Given the description of an element on the screen output the (x, y) to click on. 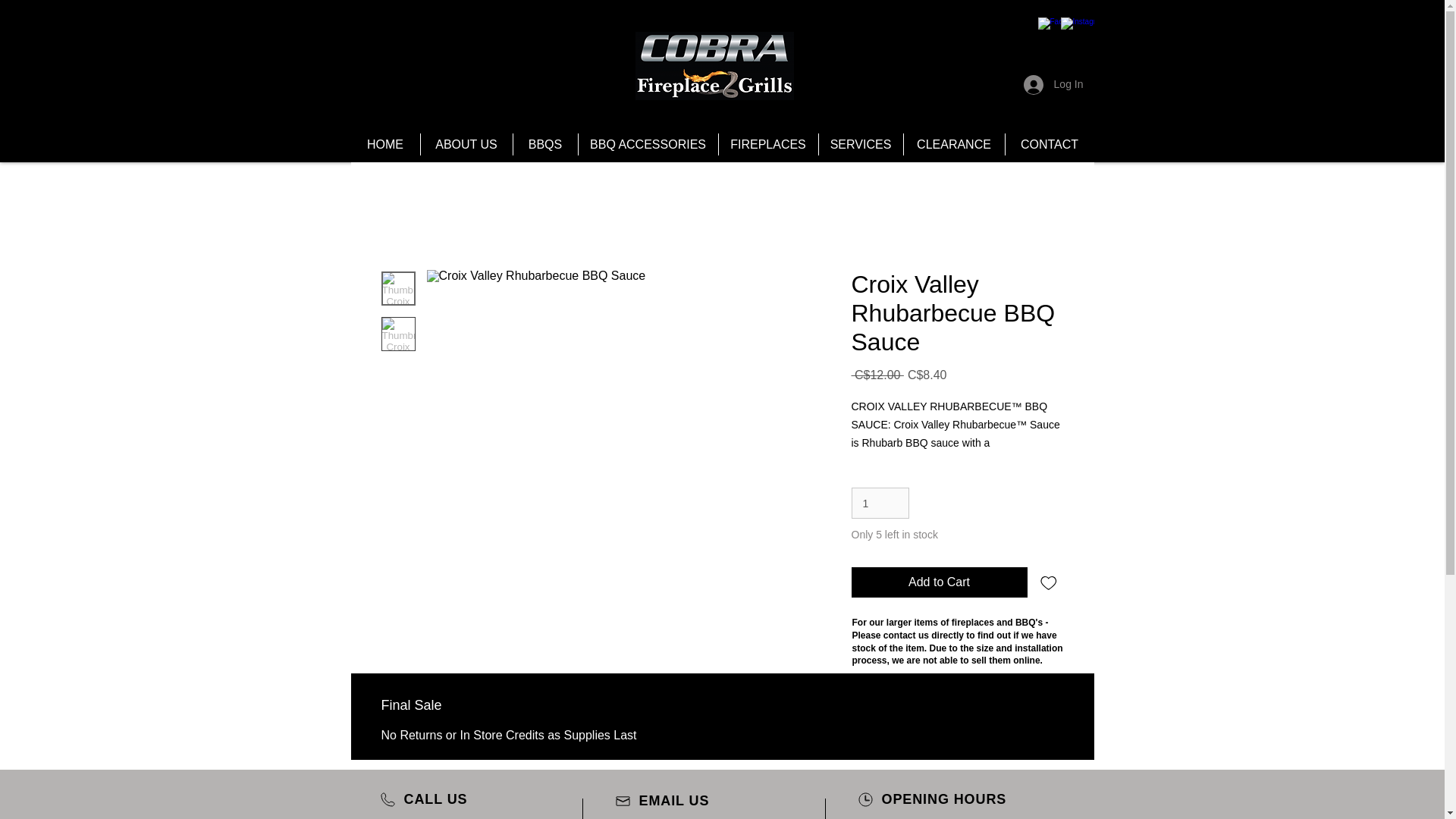
BBQS (545, 144)
CLEARANCE (953, 144)
FIREPLACES (766, 144)
Log In (1053, 84)
1 (879, 502)
BBQ ACCESSORIES (647, 144)
CONTACT (1048, 144)
SERVICES (859, 144)
HOME (384, 144)
ABOUT US (466, 144)
